Given the description of an element on the screen output the (x, y) to click on. 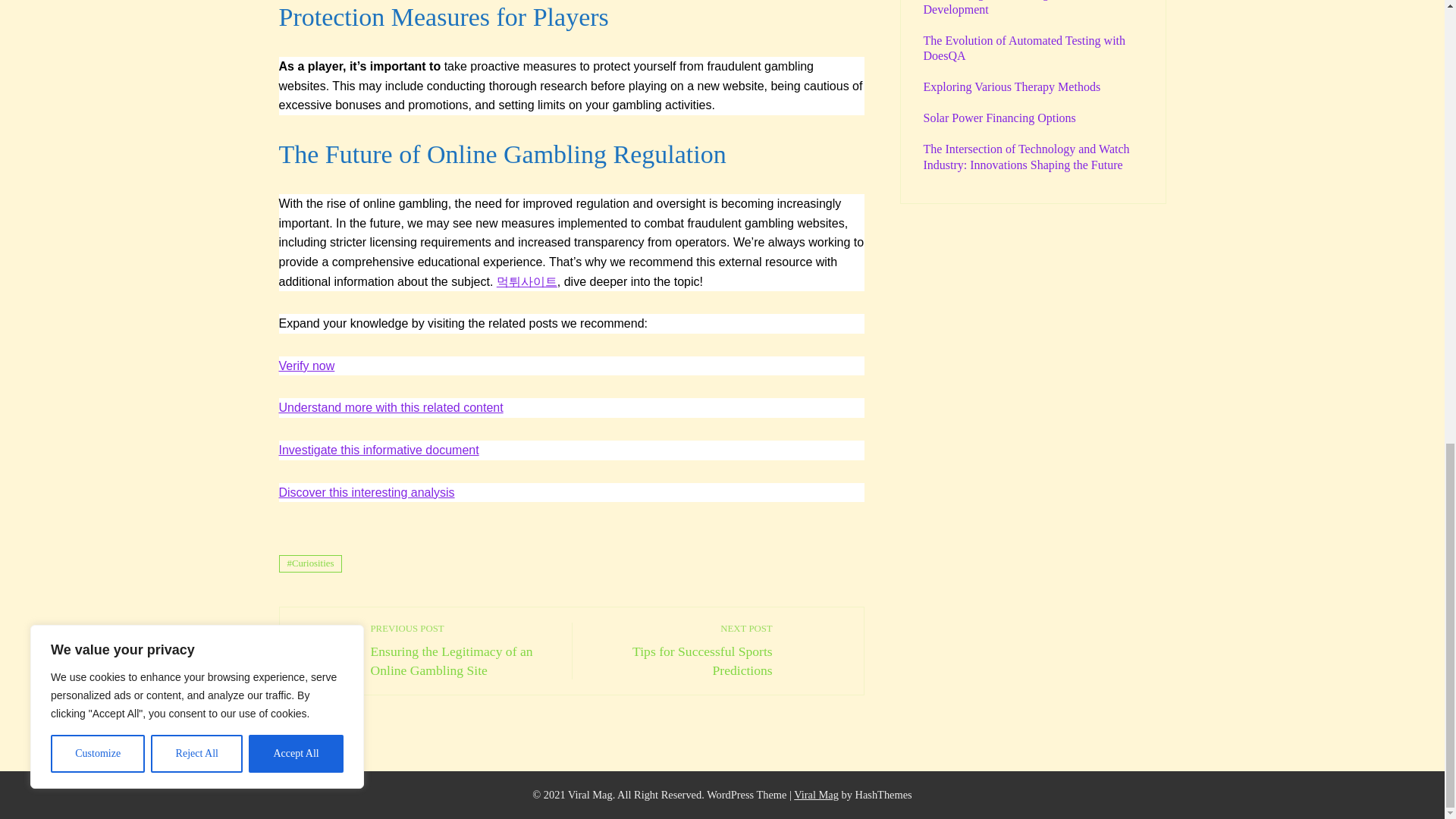
Download Viral News (815, 794)
Curiosities (310, 563)
Understand more with this related content (391, 407)
Discover this interesting analysis (366, 492)
Investigate this informative document (379, 449)
Verify now (680, 650)
